Given the description of an element on the screen output the (x, y) to click on. 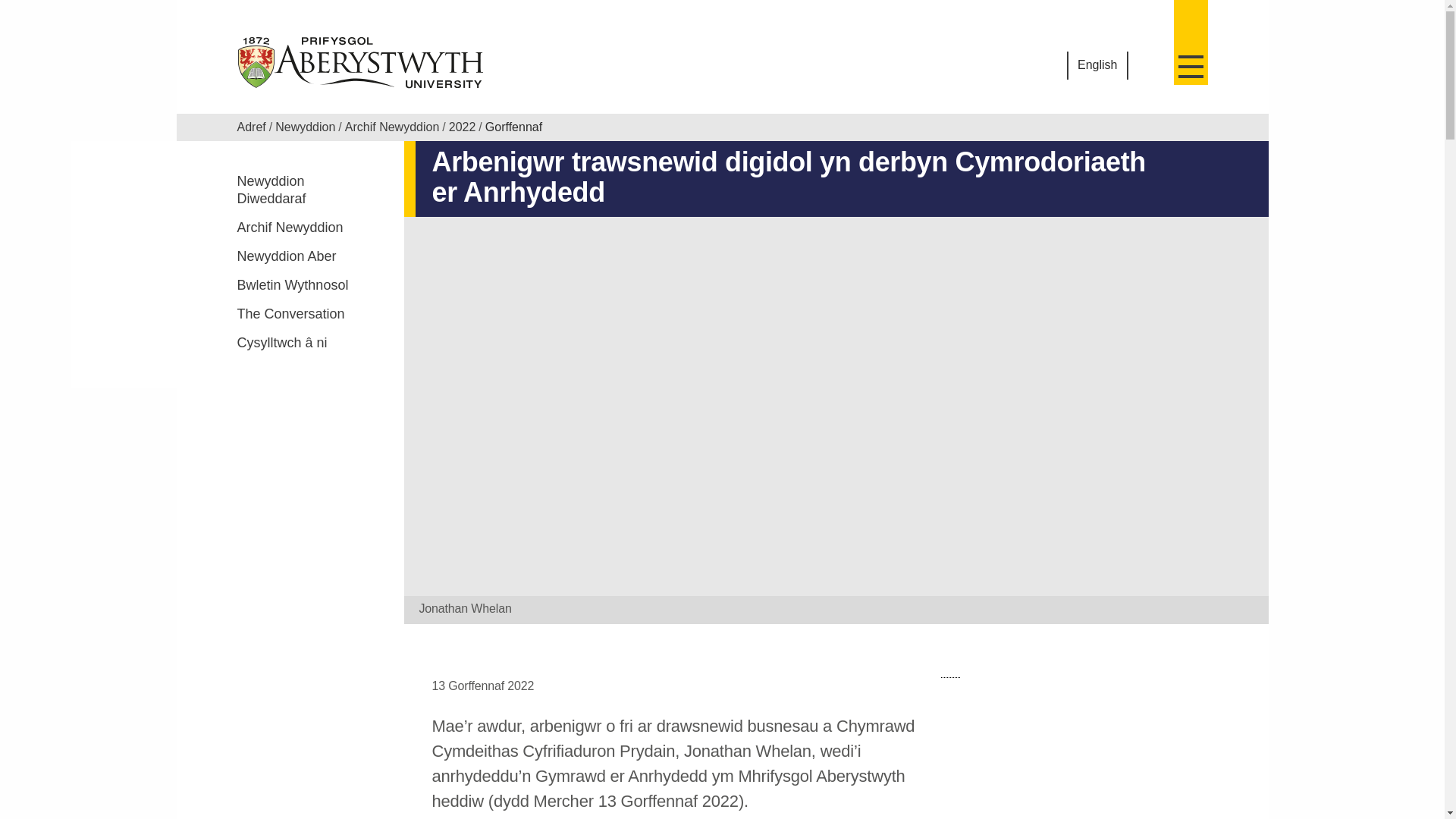
Change language to English (1096, 65)
Toggle menu (1190, 42)
Chwillio (1147, 66)
Blaenddalen Prifysgol Aberystwyth (360, 62)
Dewislen (1190, 42)
